Given the description of an element on the screen output the (x, y) to click on. 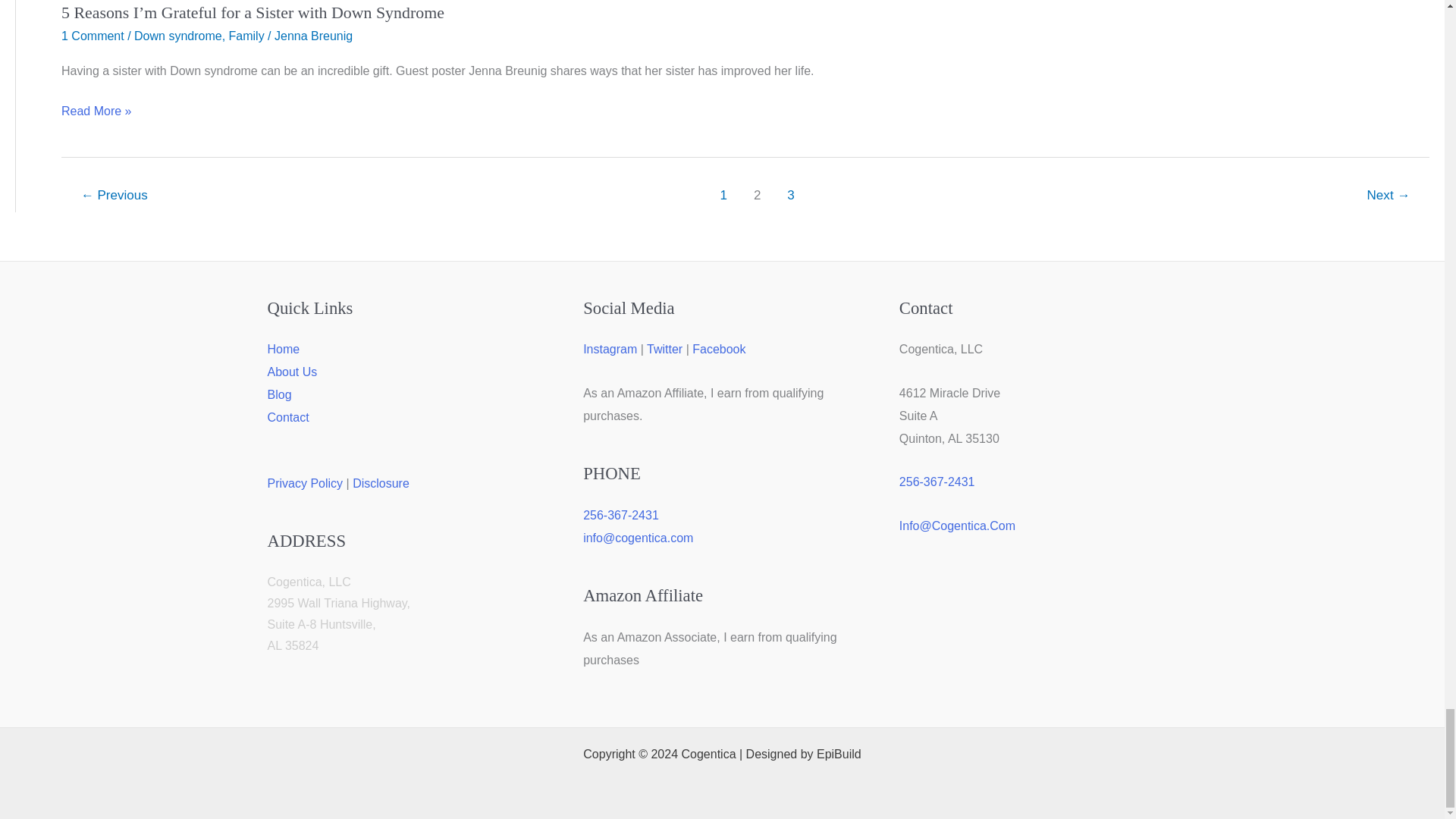
View all posts by Jenna Breunig (313, 35)
